Given the description of an element on the screen output the (x, y) to click on. 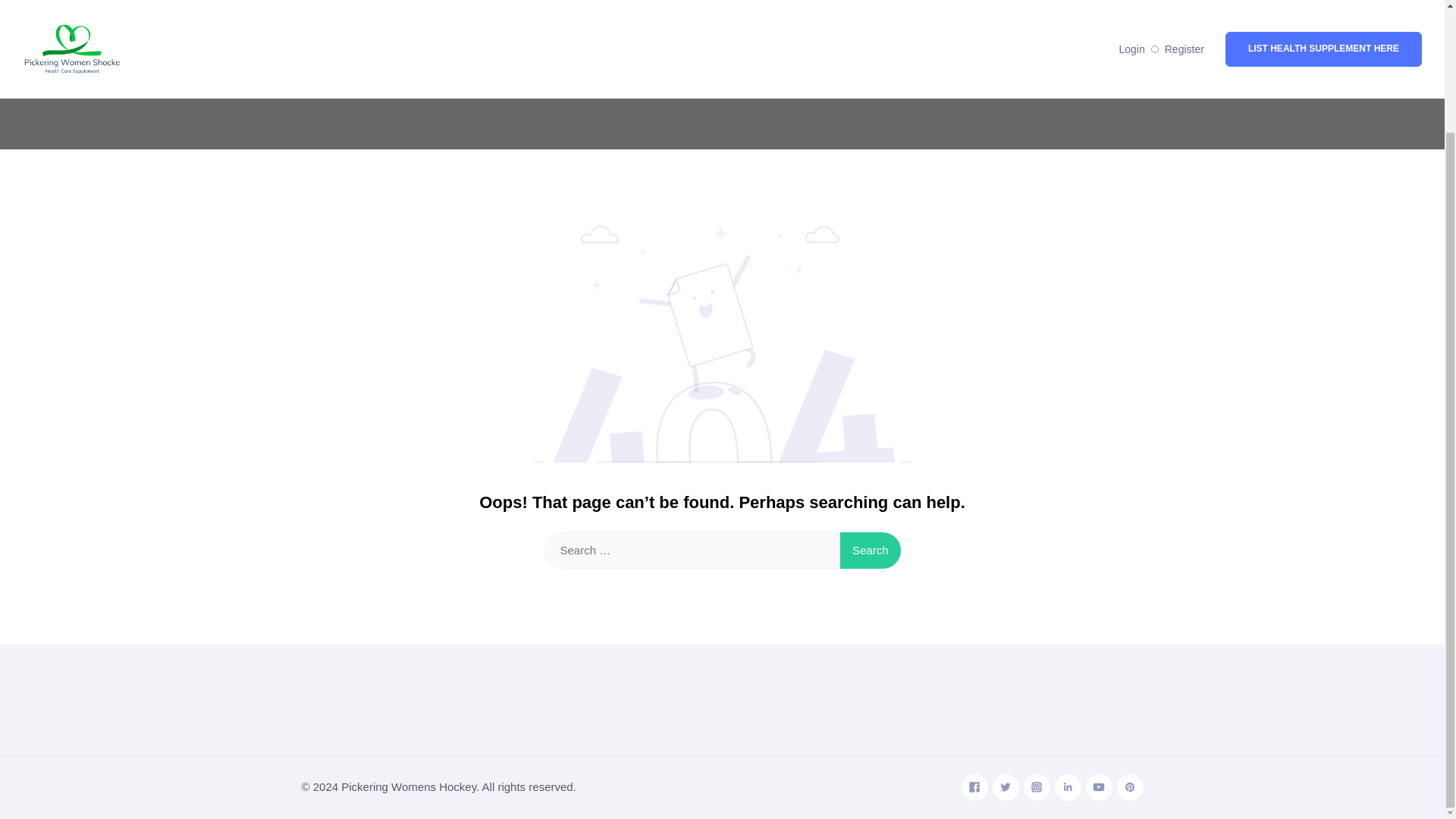
Search (870, 550)
Search (870, 550)
Search (870, 550)
